Given the description of an element on the screen output the (x, y) to click on. 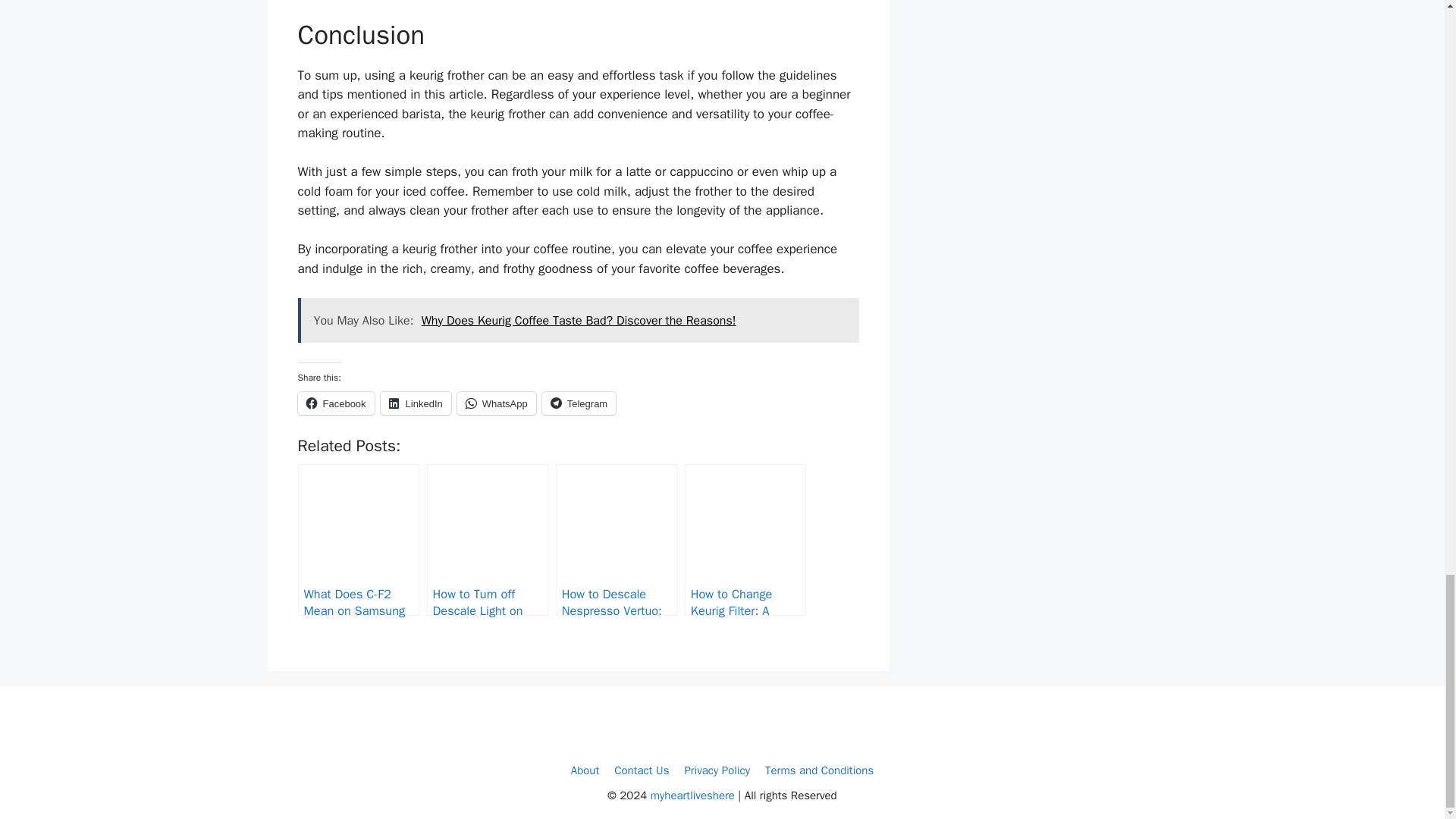
Click to share on Facebook (335, 403)
Click to share on LinkedIn (415, 403)
Click to share on WhatsApp (496, 403)
Click to share on Telegram (578, 403)
